Given the description of an element on the screen output the (x, y) to click on. 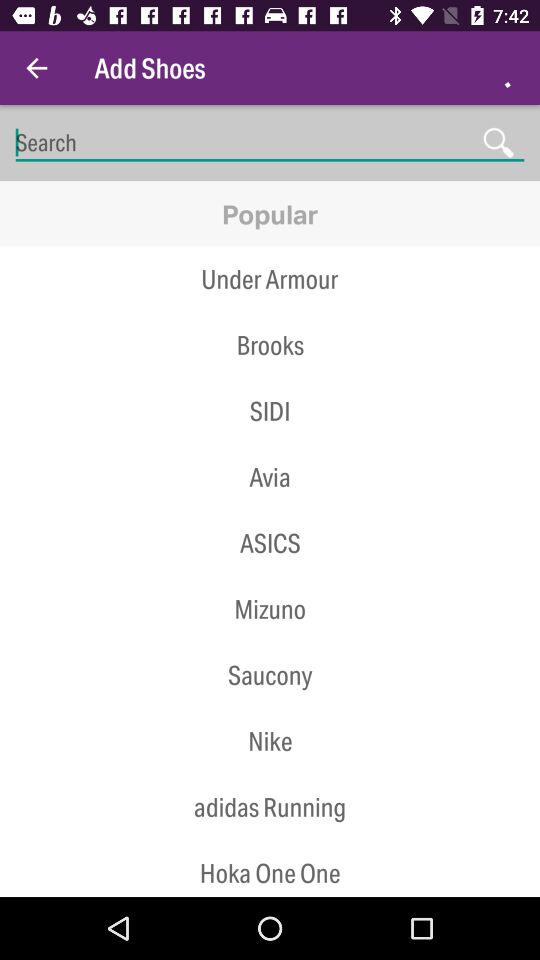
click item below brooks (270, 378)
